Given the description of an element on the screen output the (x, y) to click on. 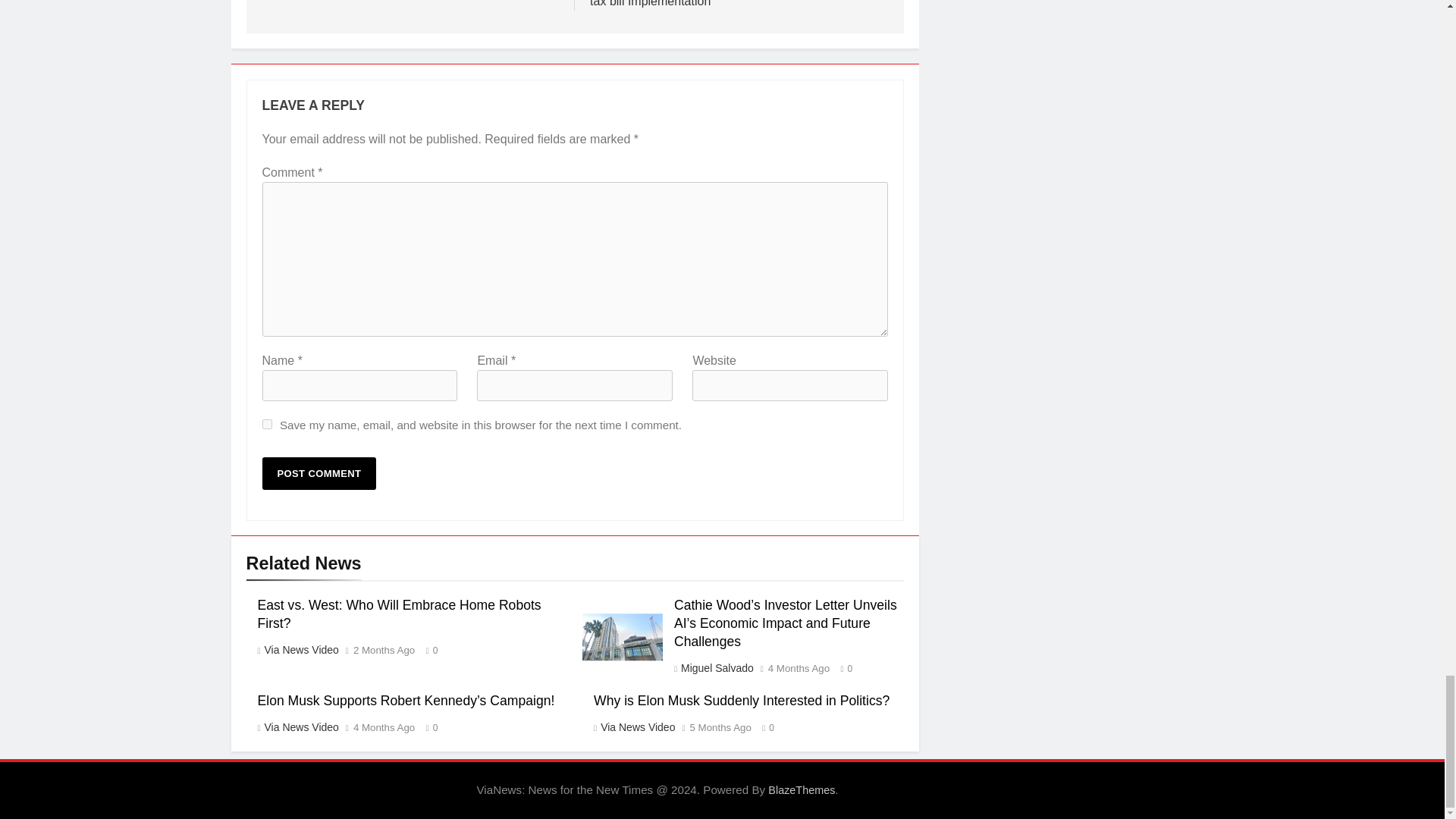
Post Comment (319, 473)
yes (267, 424)
